Given the description of an element on the screen output the (x, y) to click on. 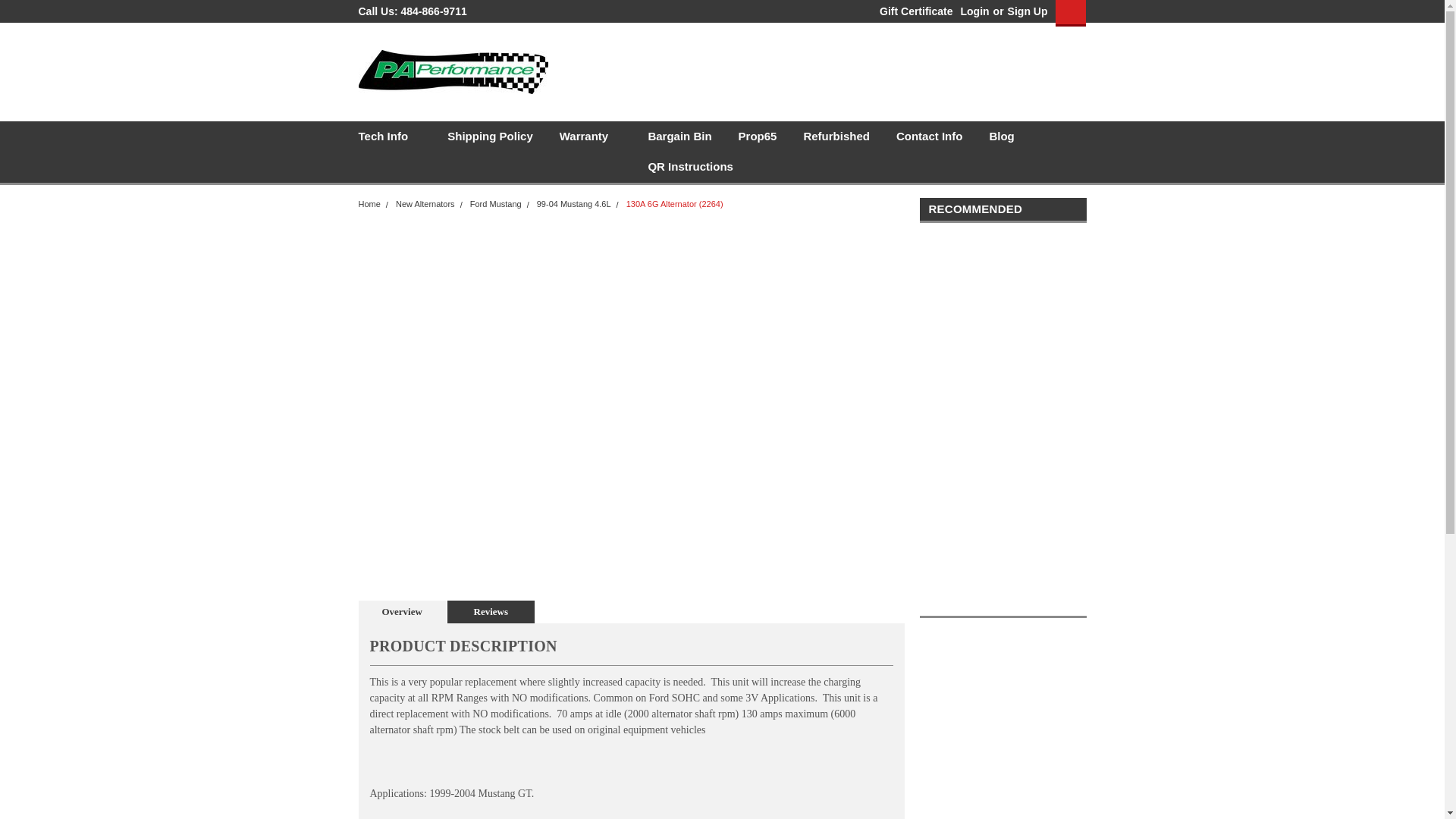
Login (973, 11)
Sign Up (1026, 11)
PA Performance.com (452, 71)
Gift Certificate (912, 11)
